Given the description of an element on the screen output the (x, y) to click on. 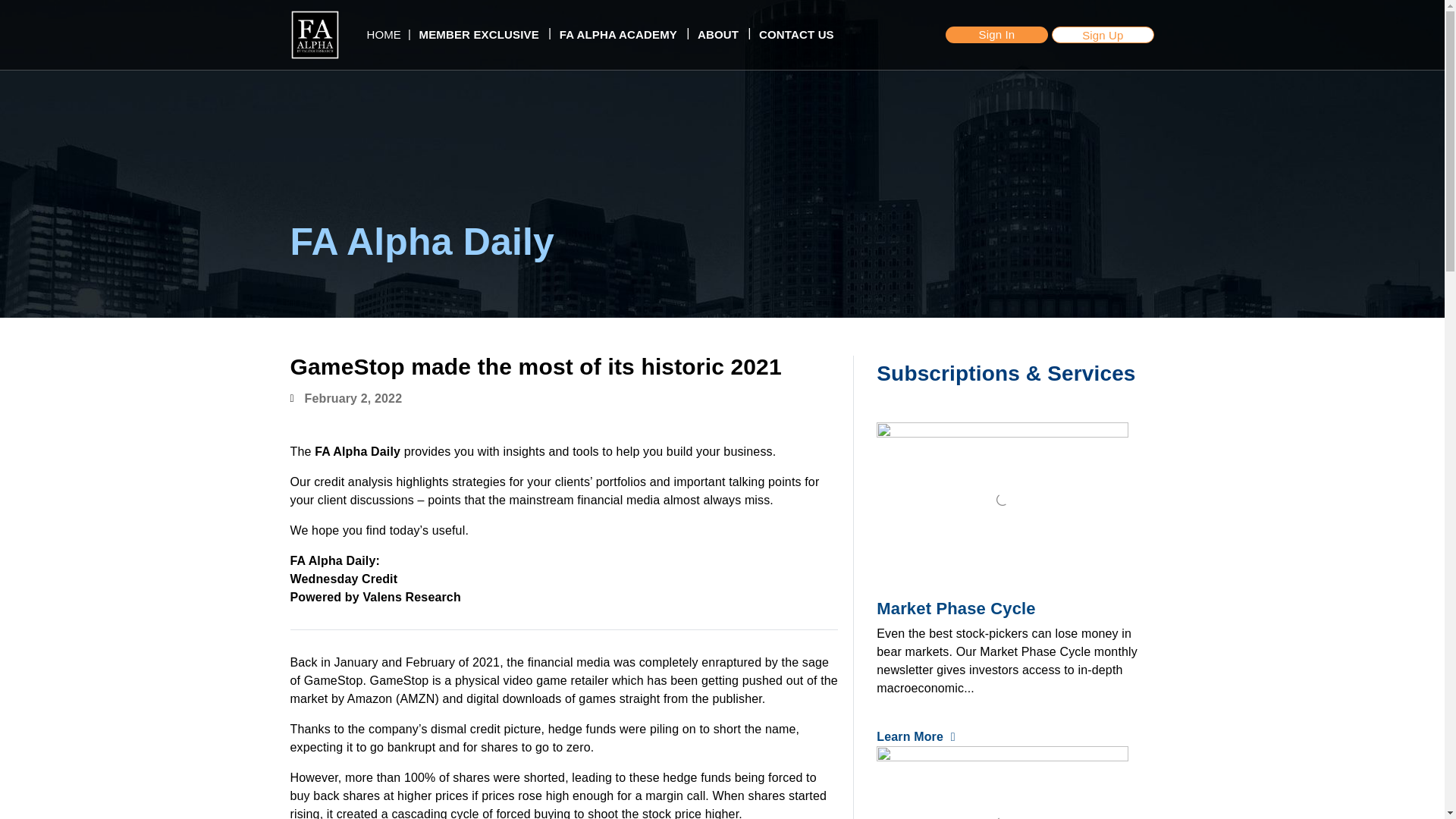
ABOUT (717, 34)
FA ALPHA ACADEMY (618, 34)
CONTACT US (796, 34)
MEMBER EXCLUSIVE (479, 34)
Sign In (996, 35)
Sign Up (1102, 35)
HOME (383, 35)
